Given the description of an element on the screen output the (x, y) to click on. 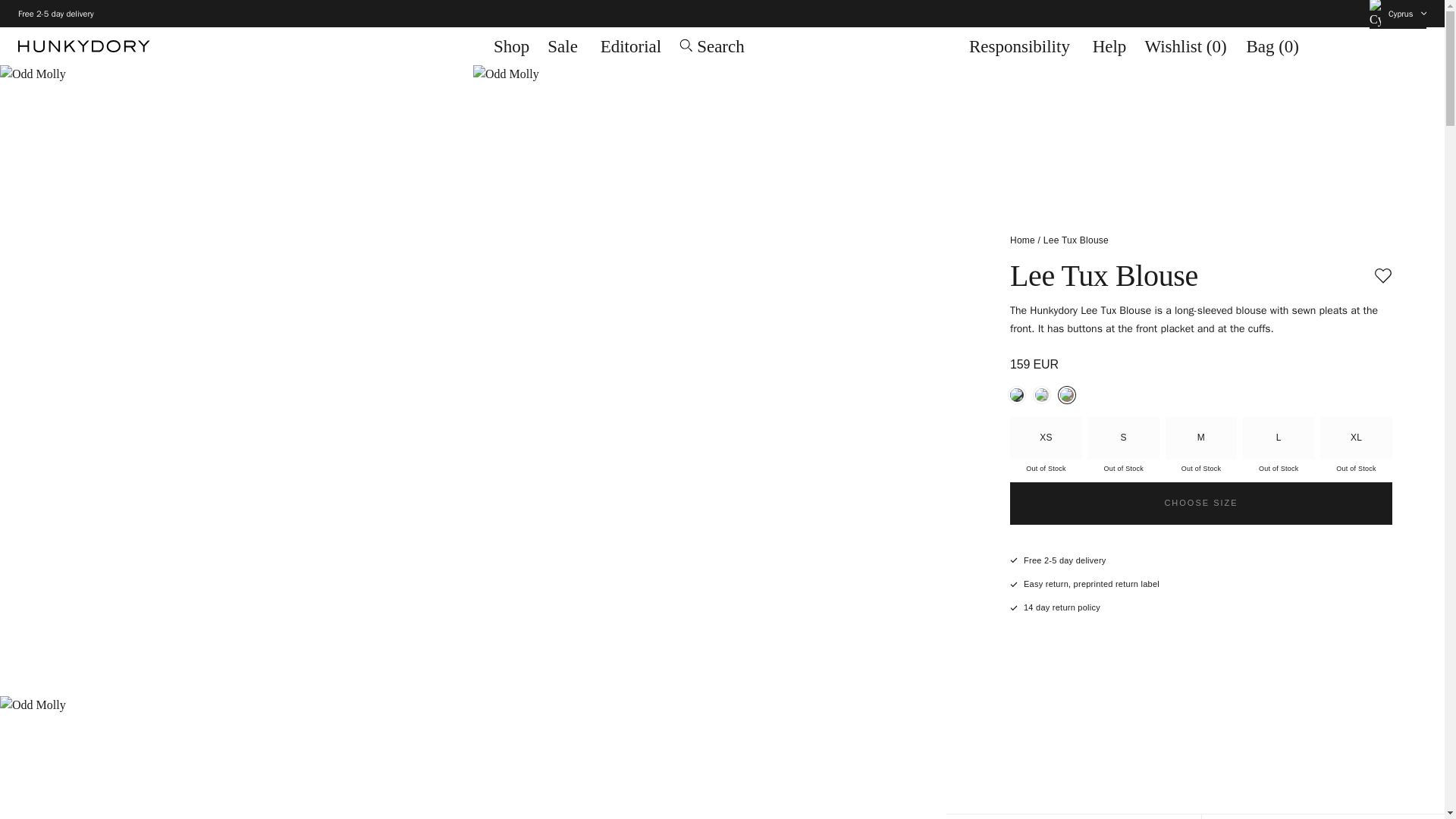
Open menu (511, 46)
Home (1022, 240)
Lee Tux Blouse (1278, 437)
Charcoal (1122, 437)
CHOOSE SIZE (1075, 240)
Toffee (1045, 437)
Hunky Dory (1016, 395)
Responsibility (1200, 503)
Oyster (1066, 395)
Sale (246, 46)
